Given the description of an element on the screen output the (x, y) to click on. 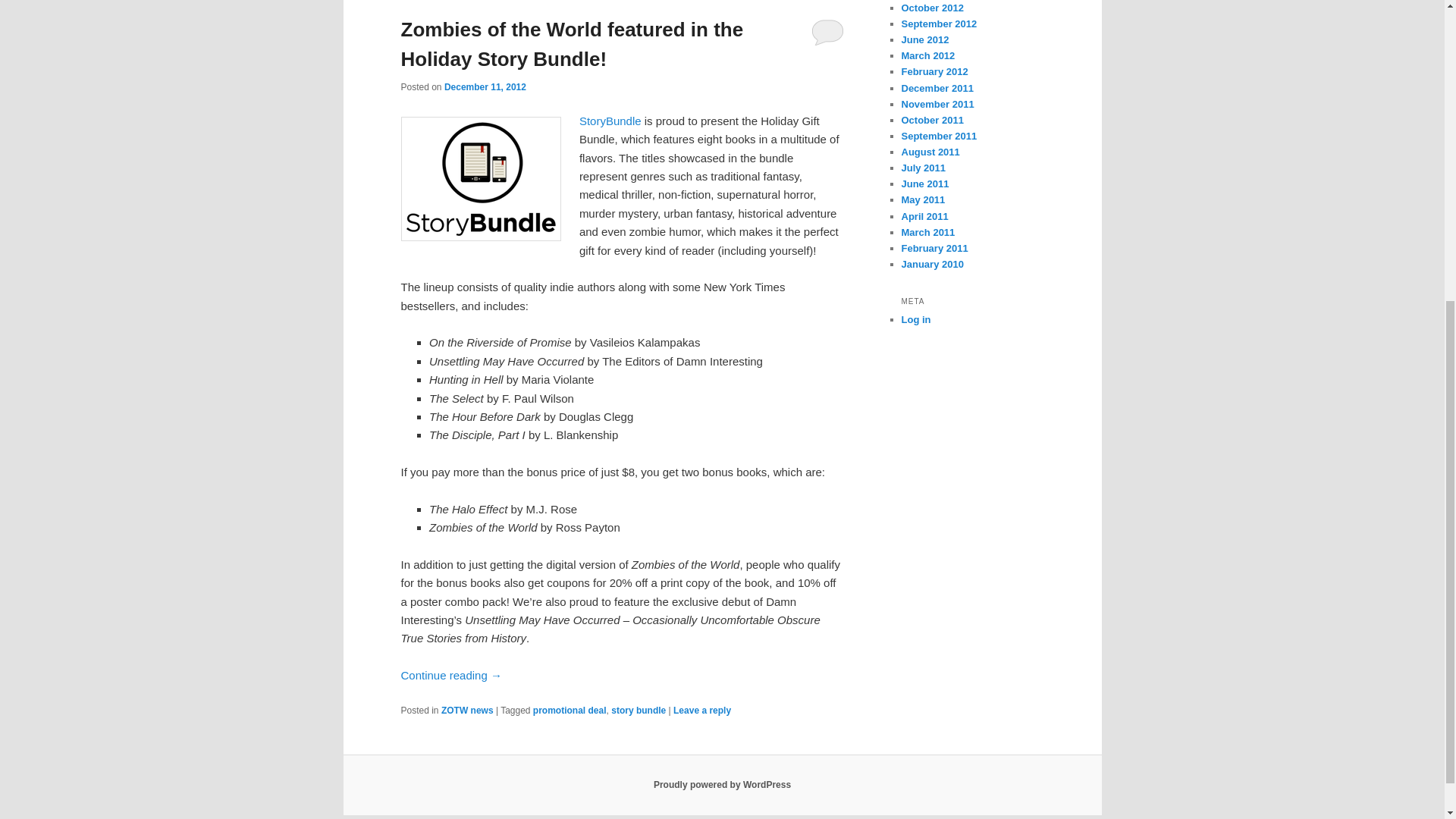
StoryBundle (612, 120)
Leave a reply (701, 710)
August 2011 (930, 152)
7:17 pm (484, 86)
promotional deal (569, 710)
November 2011 (937, 103)
June 2012 (925, 39)
October 2012 (931, 7)
December 2011 (936, 88)
Semantic Personal Publishing Platform (721, 784)
February 2012 (934, 71)
September 2011 (938, 135)
May 2011 (922, 199)
October 2011 (931, 120)
December 11, 2012 (484, 86)
